Given the description of an element on the screen output the (x, y) to click on. 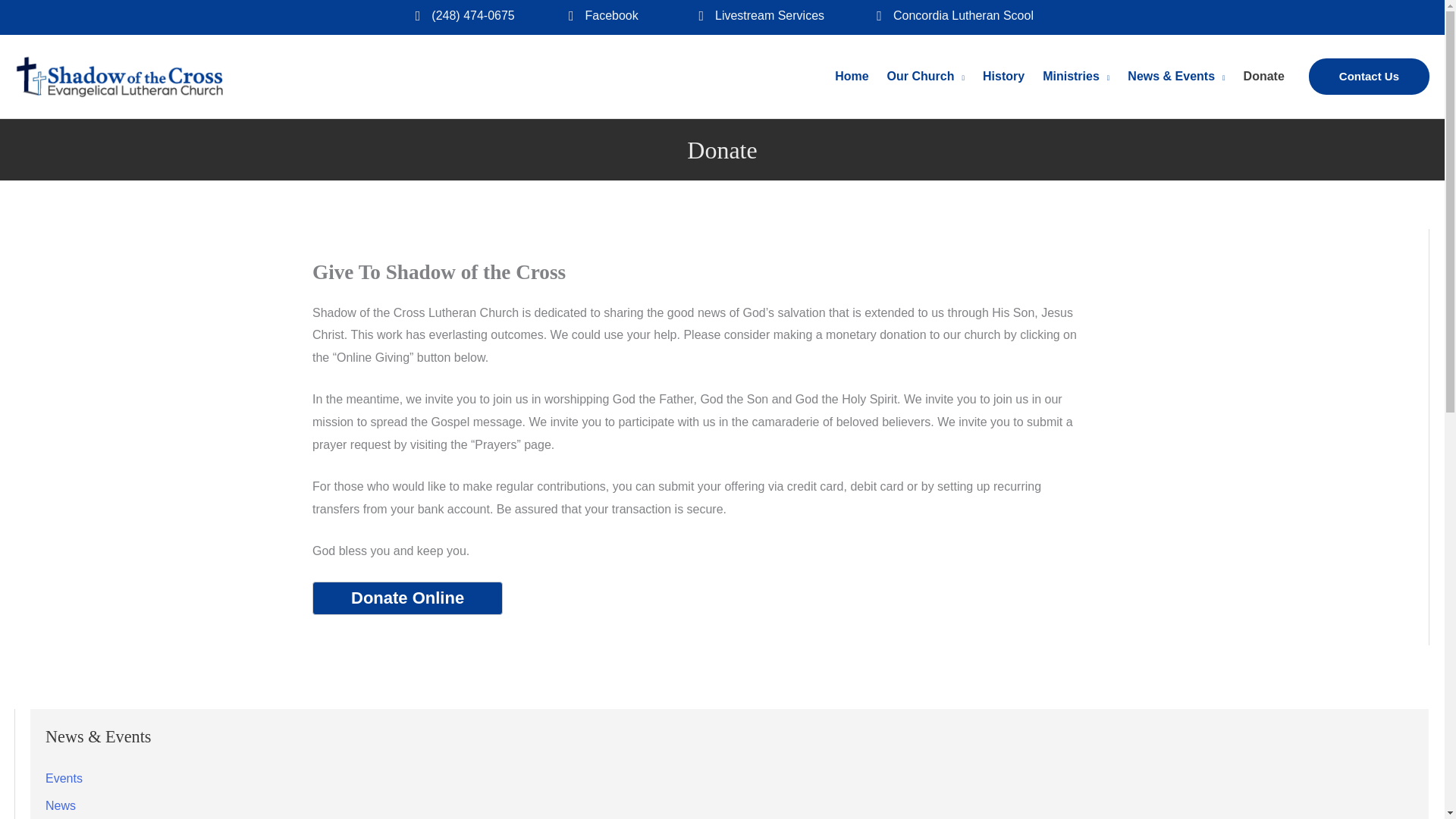
Ministries (1075, 76)
Concordia Lutheran Scool (963, 15)
Livestream Services (769, 15)
Our Church (925, 76)
Facebook (611, 15)
